Given the description of an element on the screen output the (x, y) to click on. 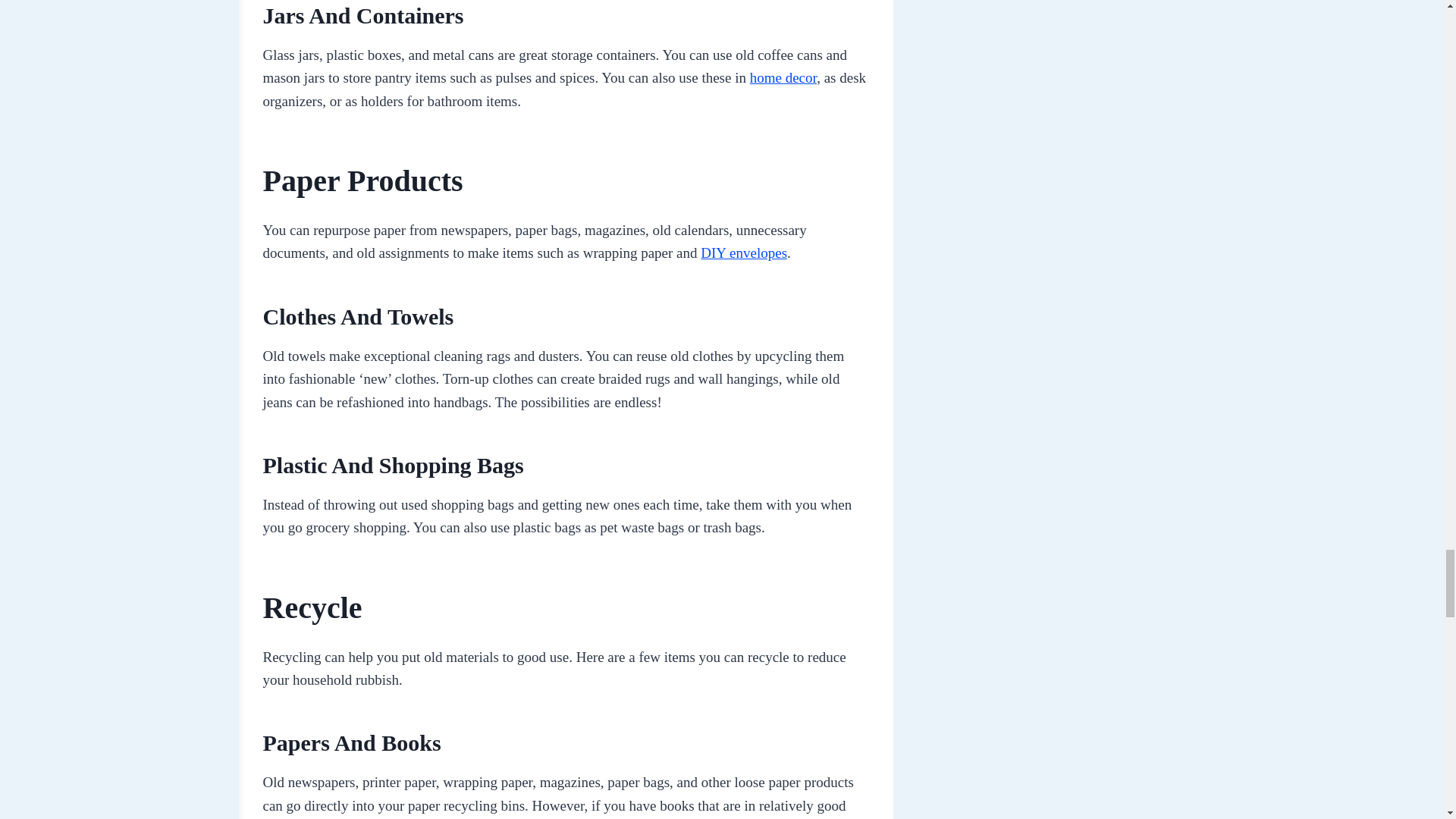
home decor (782, 77)
